Given the description of an element on the screen output the (x, y) to click on. 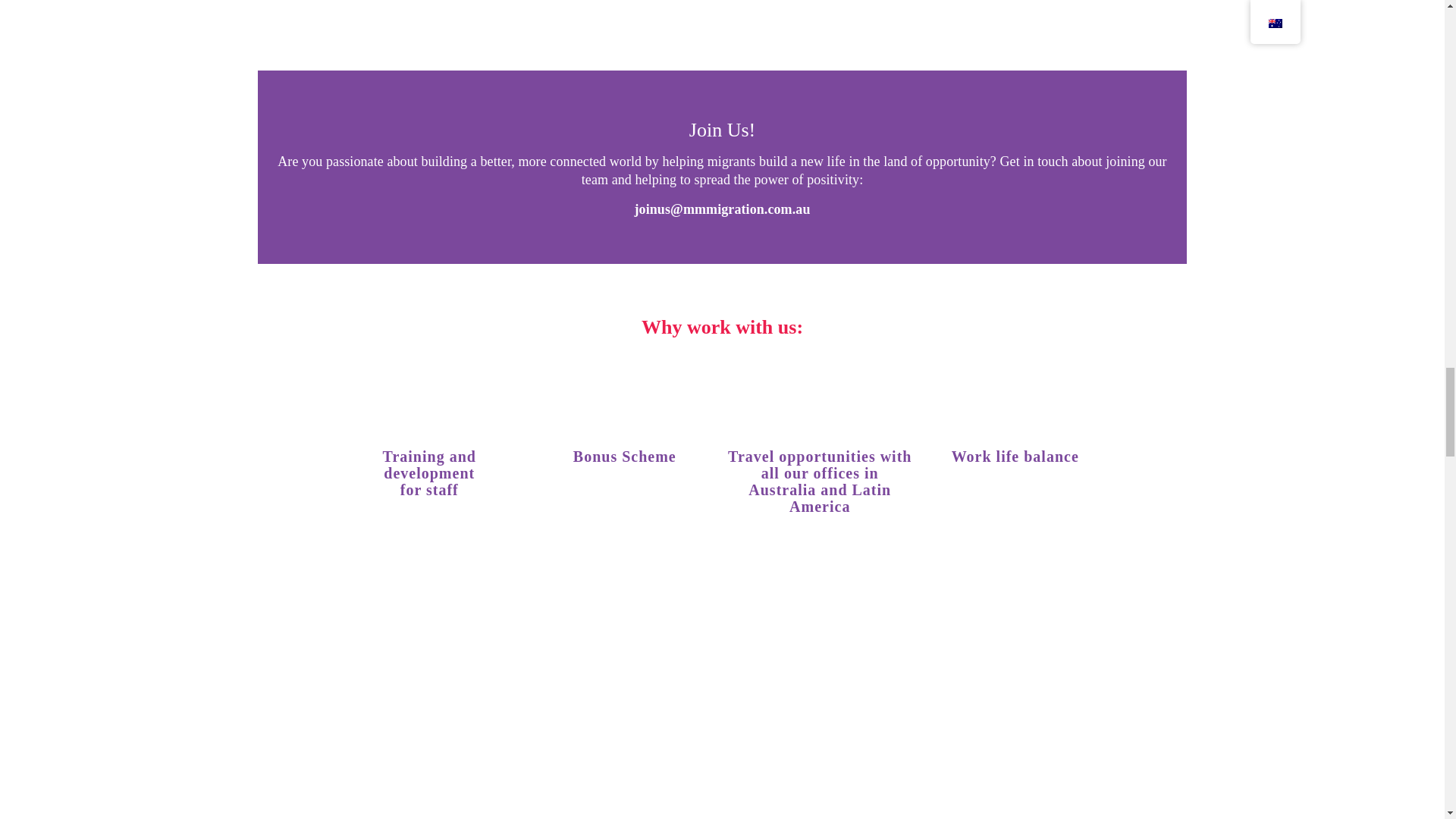
work-balance (1015, 394)
bonus (624, 394)
